Given the description of an element on the screen output the (x, y) to click on. 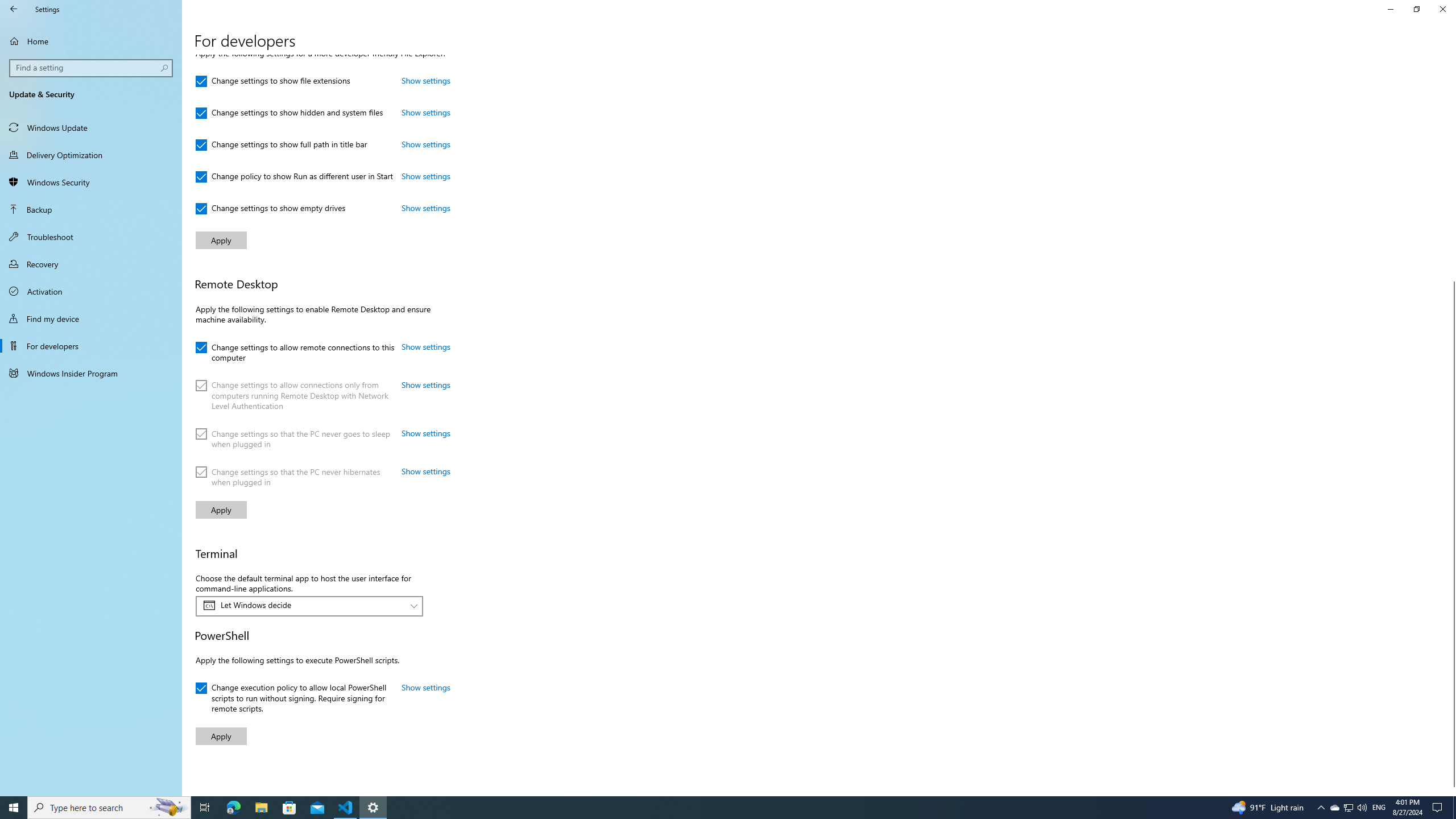
Find my device (91, 318)
Change settings to show full path in title bar (280, 144)
Change settings to show hidden and system files (288, 113)
Windows Insider Program (91, 372)
Restore Settings (1416, 9)
Let Windows decide (303, 605)
Change settings to allow remote connections to this computer (294, 350)
For developers (91, 345)
